Given the description of an element on the screen output the (x, y) to click on. 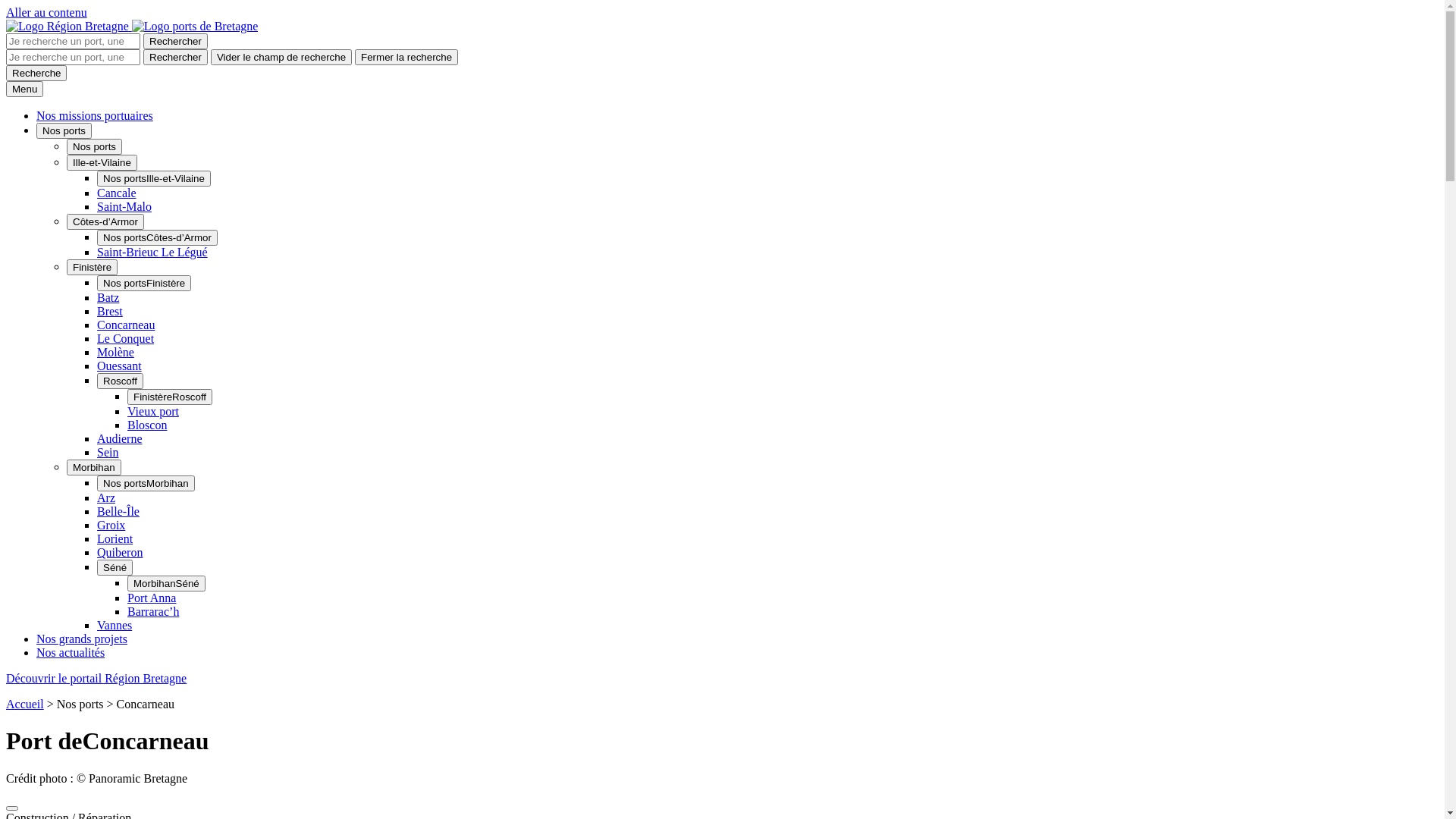
Concarneau Element type: text (125, 324)
Sein Element type: text (107, 451)
Morbihan Element type: text (93, 467)
Ouessant Element type: text (119, 365)
Bloscon Element type: text (146, 424)
Roscoff Element type: text (120, 381)
Nos grands projets Element type: text (81, 638)
Vannes Element type: text (114, 624)
Vider le champ de recherche Element type: text (280, 57)
Rechercher Element type: text (175, 41)
Arz Element type: text (106, 497)
Fermer la recherche Element type: text (406, 57)
Cancale Element type: text (116, 192)
Nos ports Element type: text (63, 130)
Port Anna Element type: text (151, 597)
Menu Element type: text (24, 89)
Lorient Element type: text (114, 538)
Ille-et-Vilaine Element type: text (101, 162)
Audierne Element type: text (119, 438)
Quiberon Element type: text (119, 552)
Rechercher Element type: text (175, 57)
Aller au contenu Element type: text (46, 12)
Batz Element type: text (108, 297)
Vieux port Element type: text (152, 410)
Nos portsIlle-et-Vilaine Element type: text (153, 178)
Groix Element type: text (111, 524)
Accueil Element type: text (24, 703)
Saint-Malo Element type: text (124, 206)
Nos missions portuaires Element type: text (94, 115)
Le Conquet Element type: text (125, 338)
Brest Element type: text (109, 310)
Recherche Element type: text (36, 73)
Nos ports Element type: text (94, 146)
Nos portsMorbihan Element type: text (145, 483)
